Given the description of an element on the screen output the (x, y) to click on. 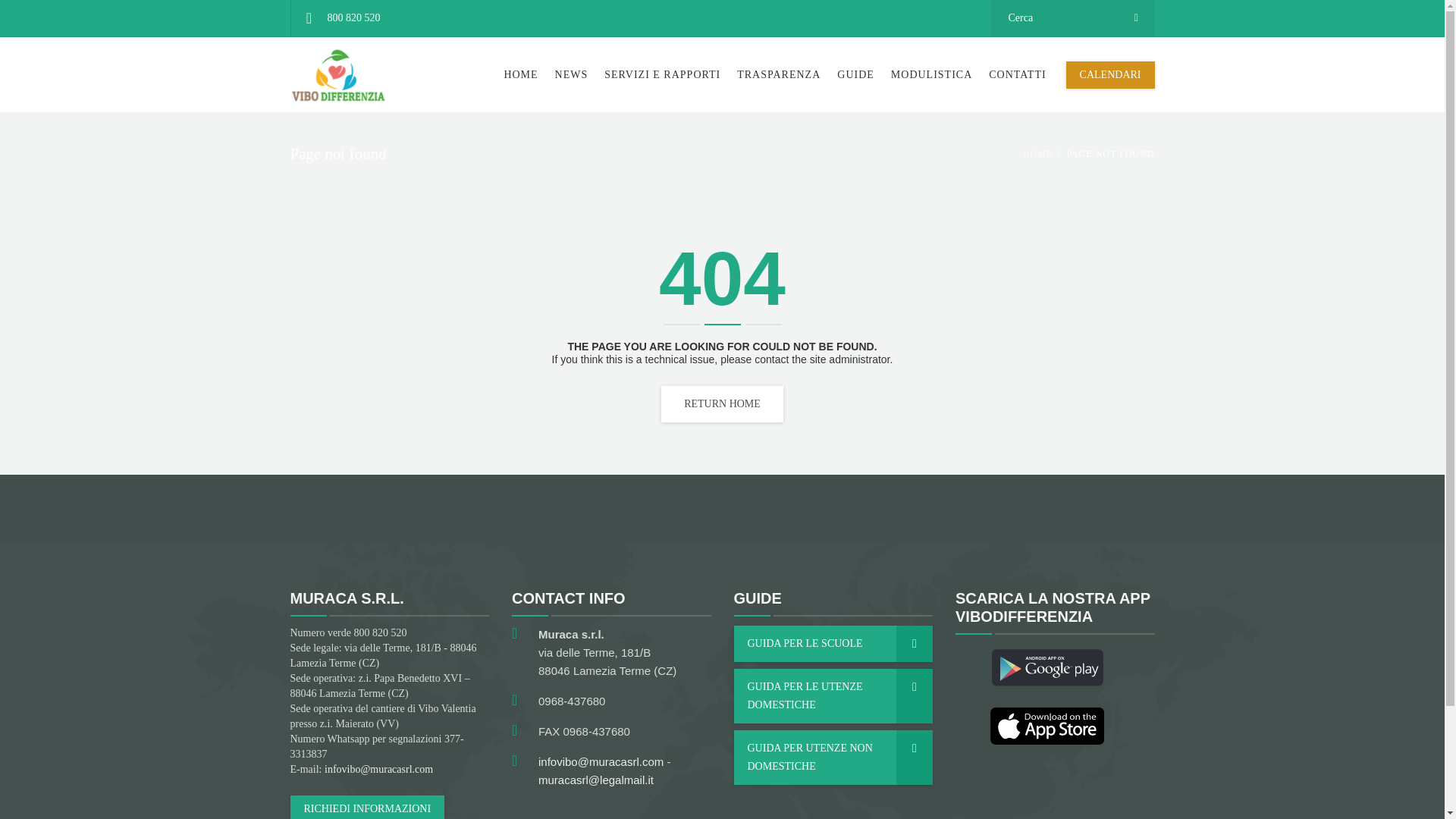
GUIDA PER UTENZE NON DOMESTICHE (833, 757)
CONTATTI (1016, 74)
GUIDA PER LE UTENZE DOMESTICHE (833, 696)
TRASPARENZA (778, 74)
CALENDARI (1109, 74)
GUIDA PER LE SCUOLE (833, 643)
800 820 520 (341, 18)
MODULISTICA (930, 74)
RETURN HOME (722, 403)
RICHIEDI INFORMAZIONI (366, 807)
SERVIZI E RAPPORTI (662, 74)
